Given the description of an element on the screen output the (x, y) to click on. 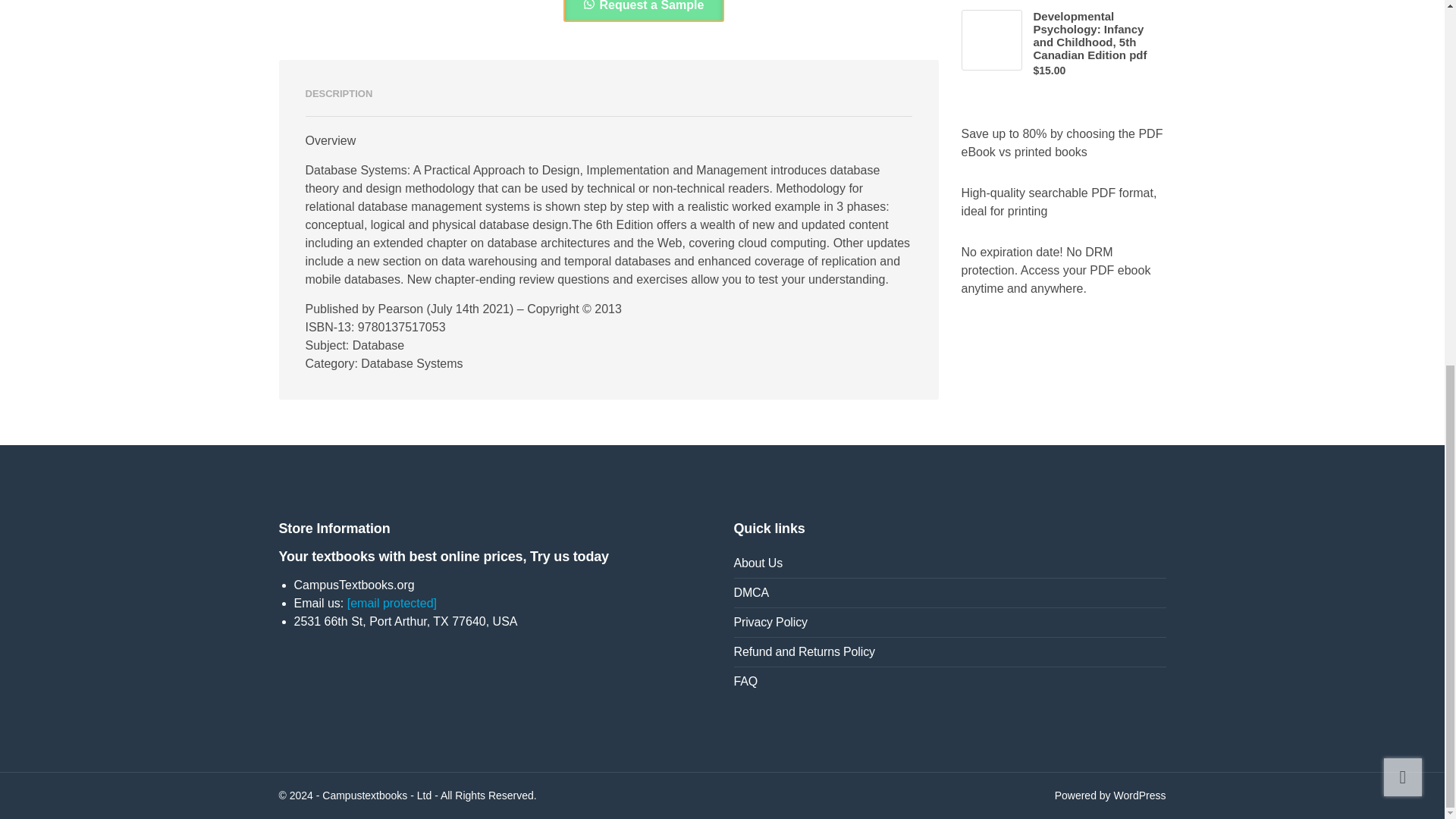
Privacy Policy (949, 623)
DMCA (949, 593)
FAQ (949, 681)
Refund and Returns Policy (949, 652)
Request a Sample (642, 11)
About Us (949, 563)
DESCRIPTION (338, 93)
Request a Sample (642, 5)
Scroll to the top (1403, 120)
